Given the description of an element on the screen output the (x, y) to click on. 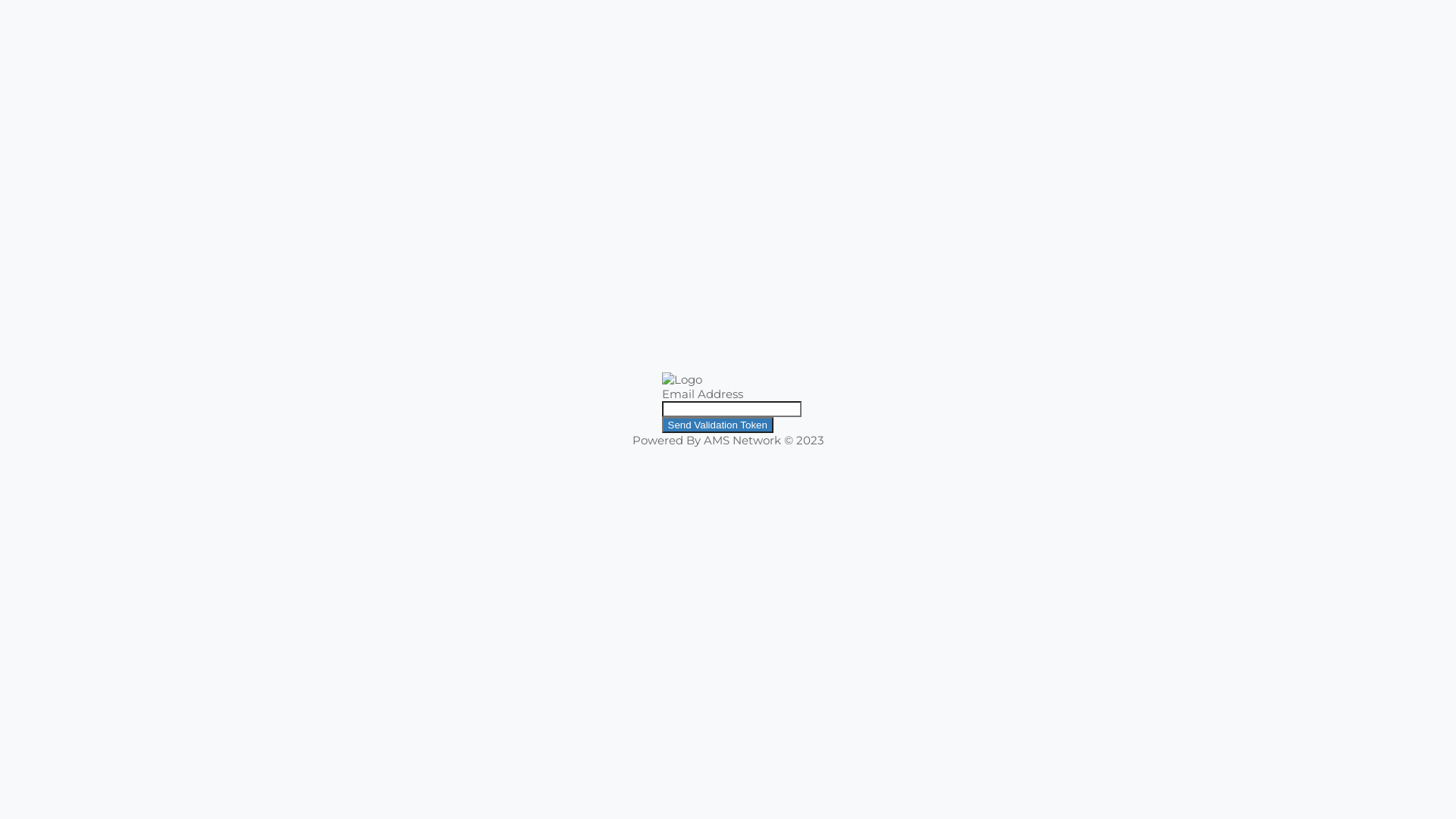
Send Validation Token Element type: text (716, 425)
